Given the description of an element on the screen output the (x, y) to click on. 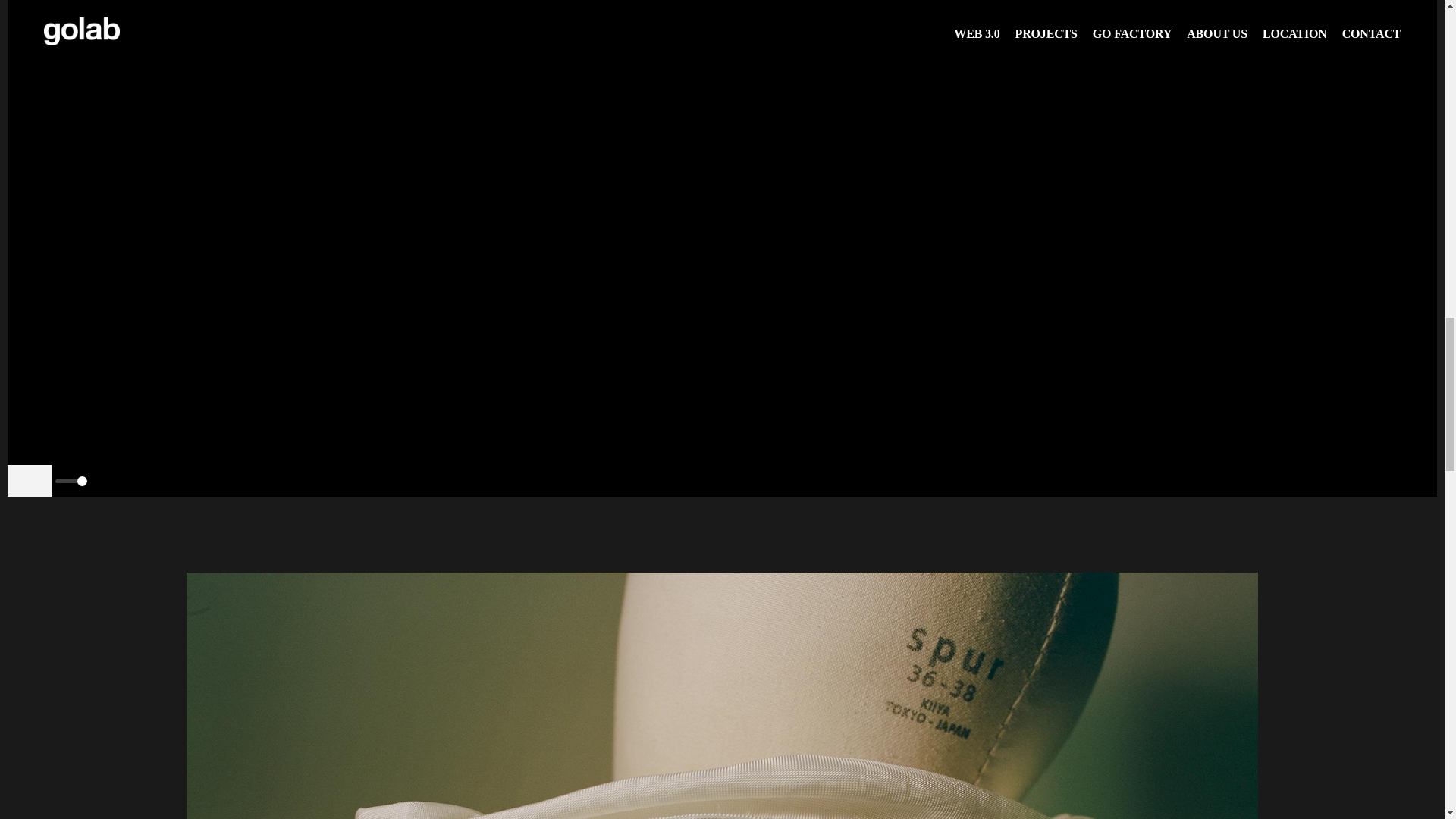
1 (71, 481)
UNMUTE (28, 480)
